Given the description of an element on the screen output the (x, y) to click on. 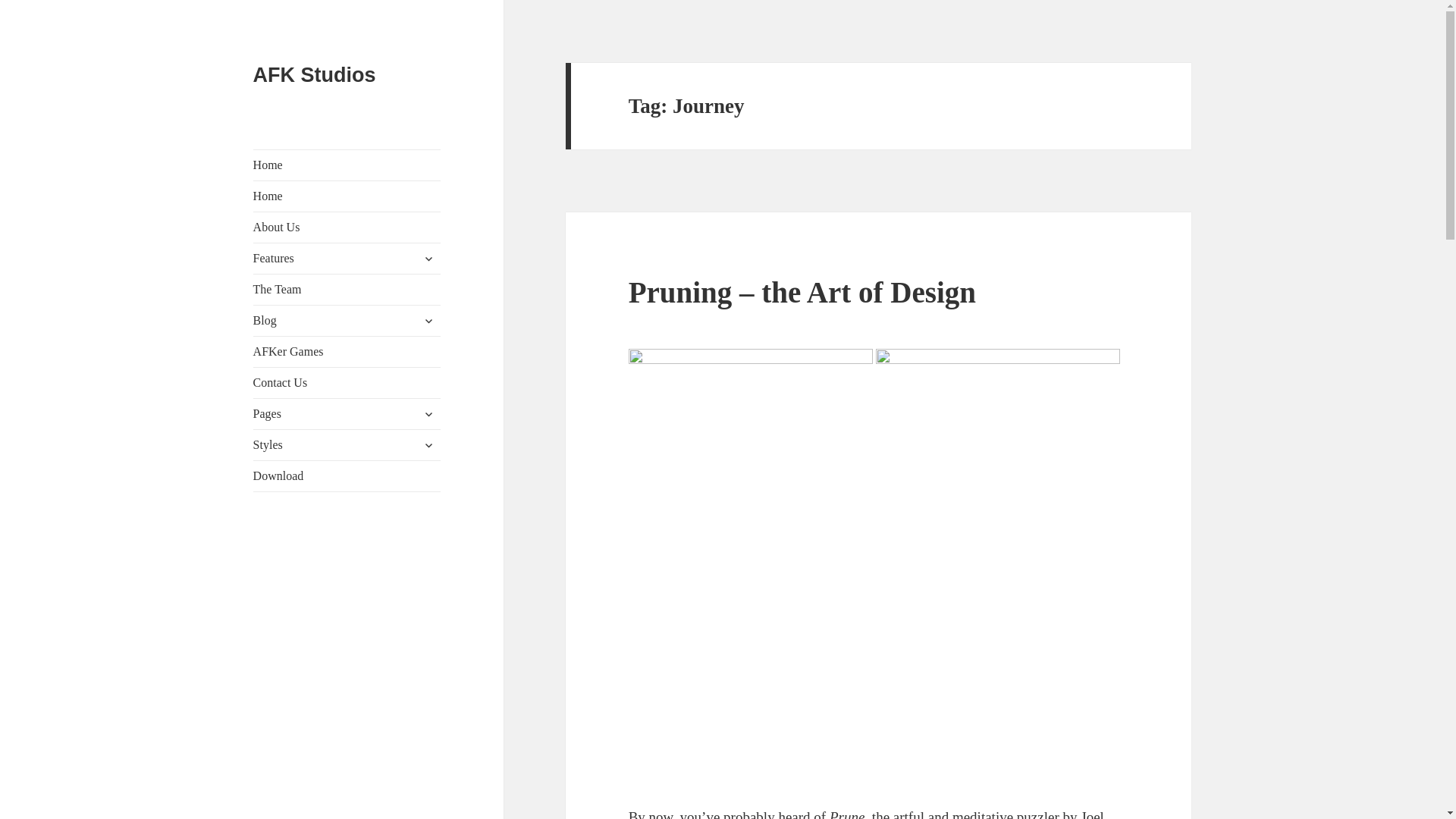
expand child menu (428, 258)
Styles (347, 444)
expand child menu (428, 413)
Pages (347, 413)
Contact Us (347, 382)
About Us (347, 227)
Home (347, 195)
AFKer Games (347, 351)
expand child menu (428, 320)
Home (347, 164)
